Given the description of an element on the screen output the (x, y) to click on. 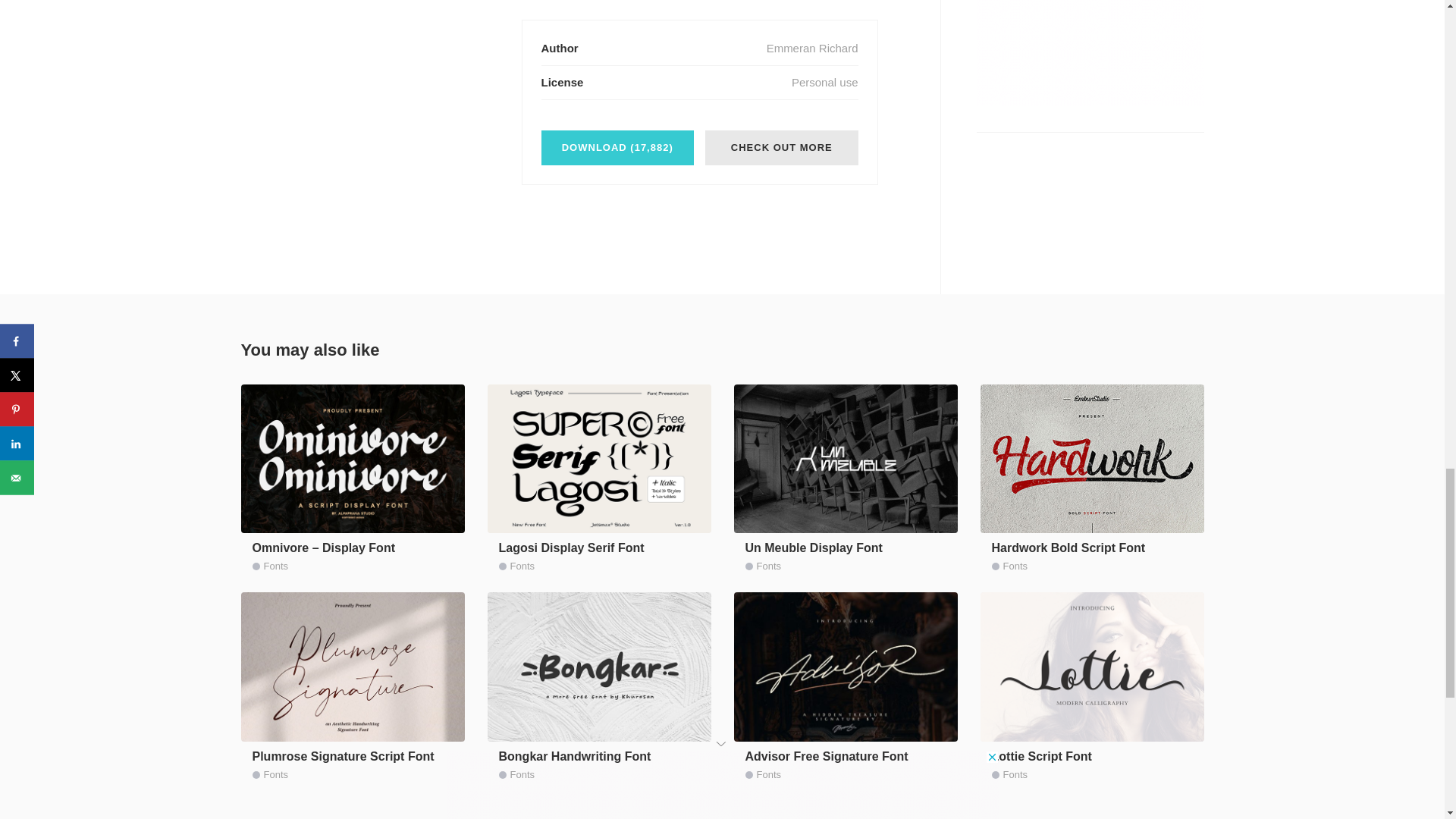
CHECK OUT MORE (781, 147)
